Given the description of an element on the screen output the (x, y) to click on. 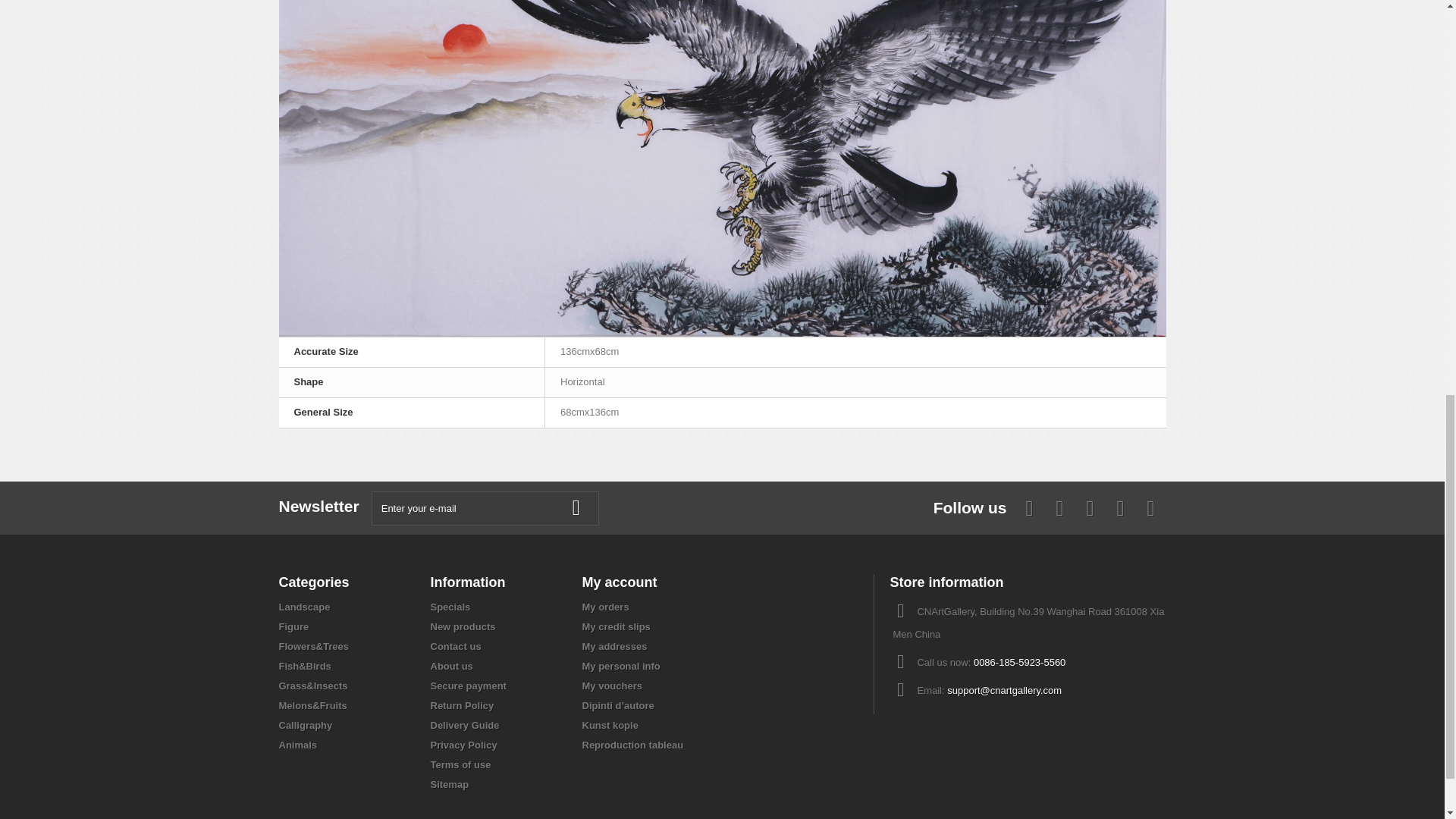
Enter your e-mail (484, 508)
